Given the description of an element on the screen output the (x, y) to click on. 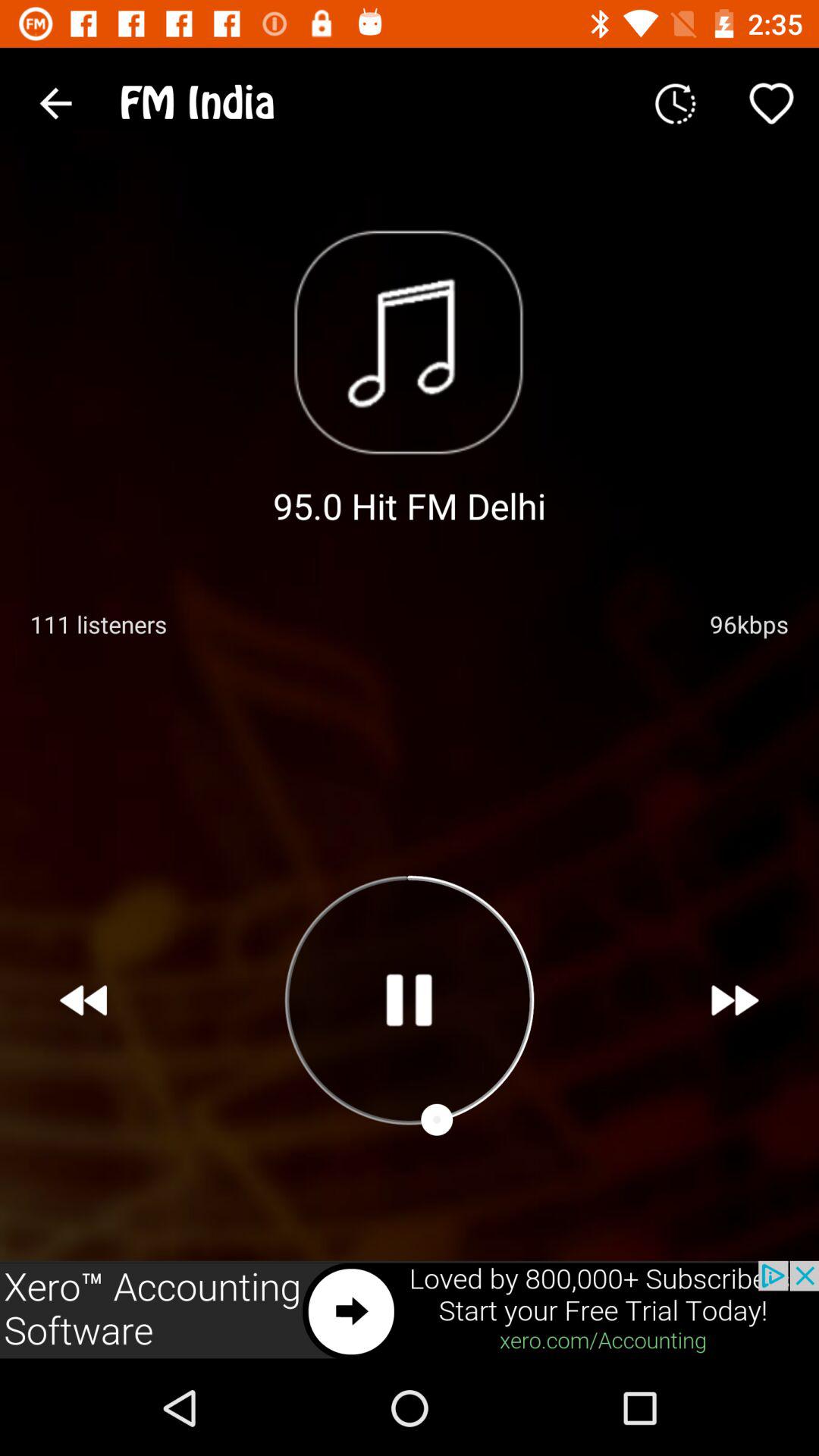
advertisement for xero accounting software (409, 1310)
